Given the description of an element on the screen output the (x, y) to click on. 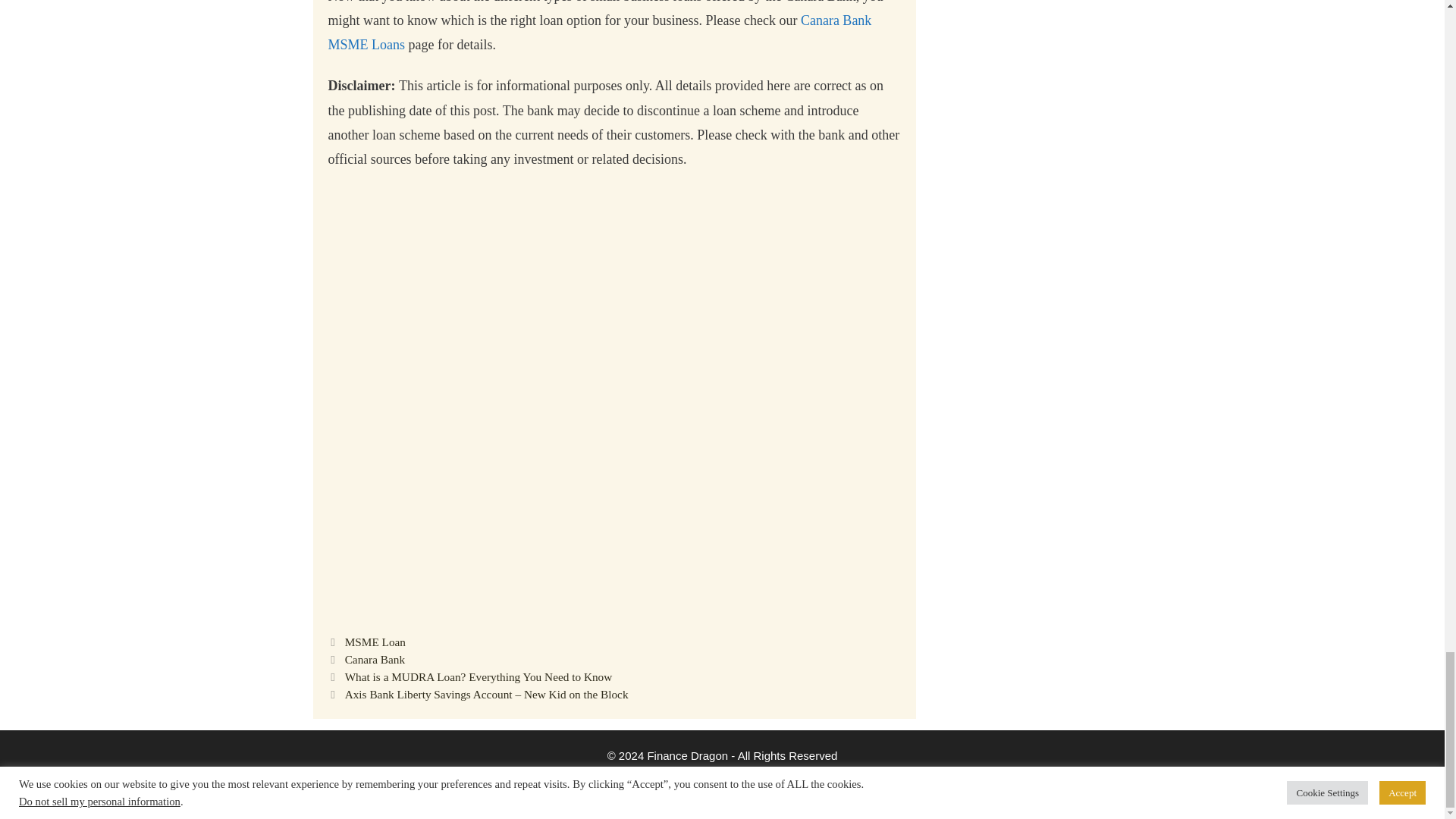
MSME Loan (375, 641)
What is a MUDRA Loan? Everything You Need to Know (478, 676)
Canara Bank (374, 658)
Canara Bank MSME Loans (598, 32)
